Given the description of an element on the screen output the (x, y) to click on. 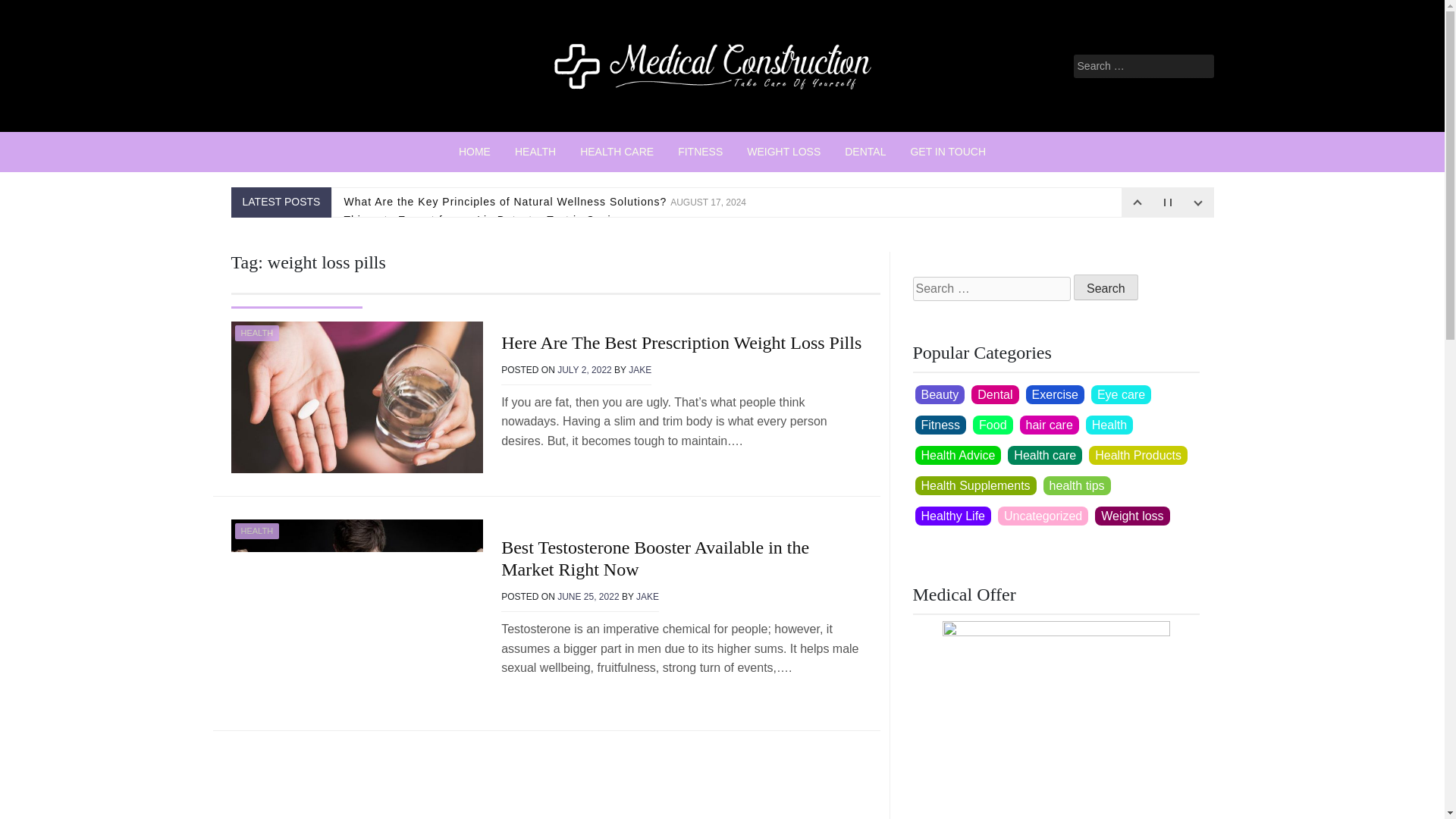
Search (1106, 287)
Fitness (940, 424)
Food (991, 424)
HEALTH (256, 530)
Search (1106, 287)
HEALTH CARE (616, 151)
HEALTH (534, 151)
GET IN TOUCH (947, 151)
JAKE (647, 596)
Here Are The Best Prescription Weight Loss Pills (680, 342)
